Given the description of an element on the screen output the (x, y) to click on. 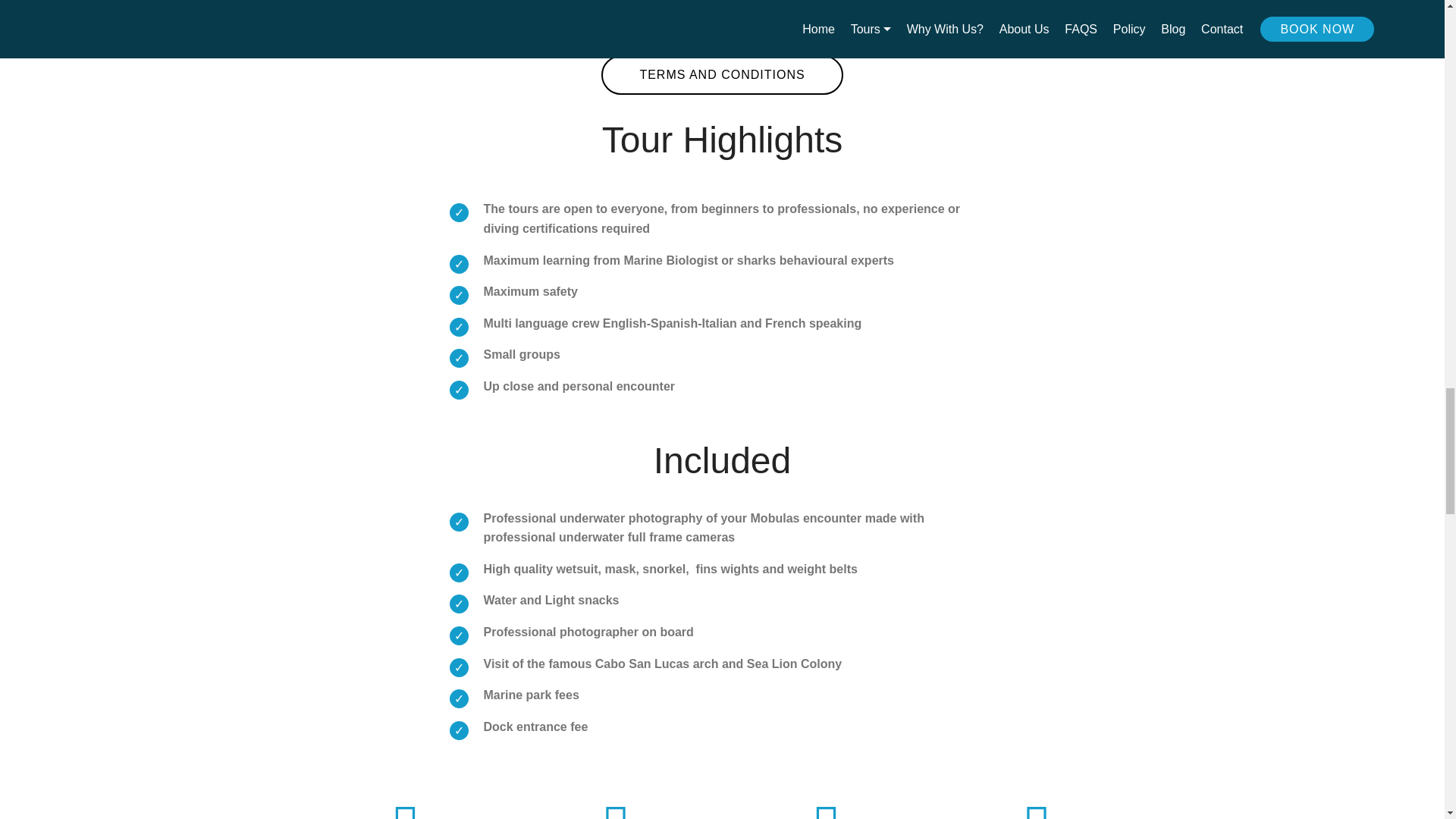
TERMS AND CONDITIONS (722, 75)
